Given the description of an element on the screen output the (x, y) to click on. 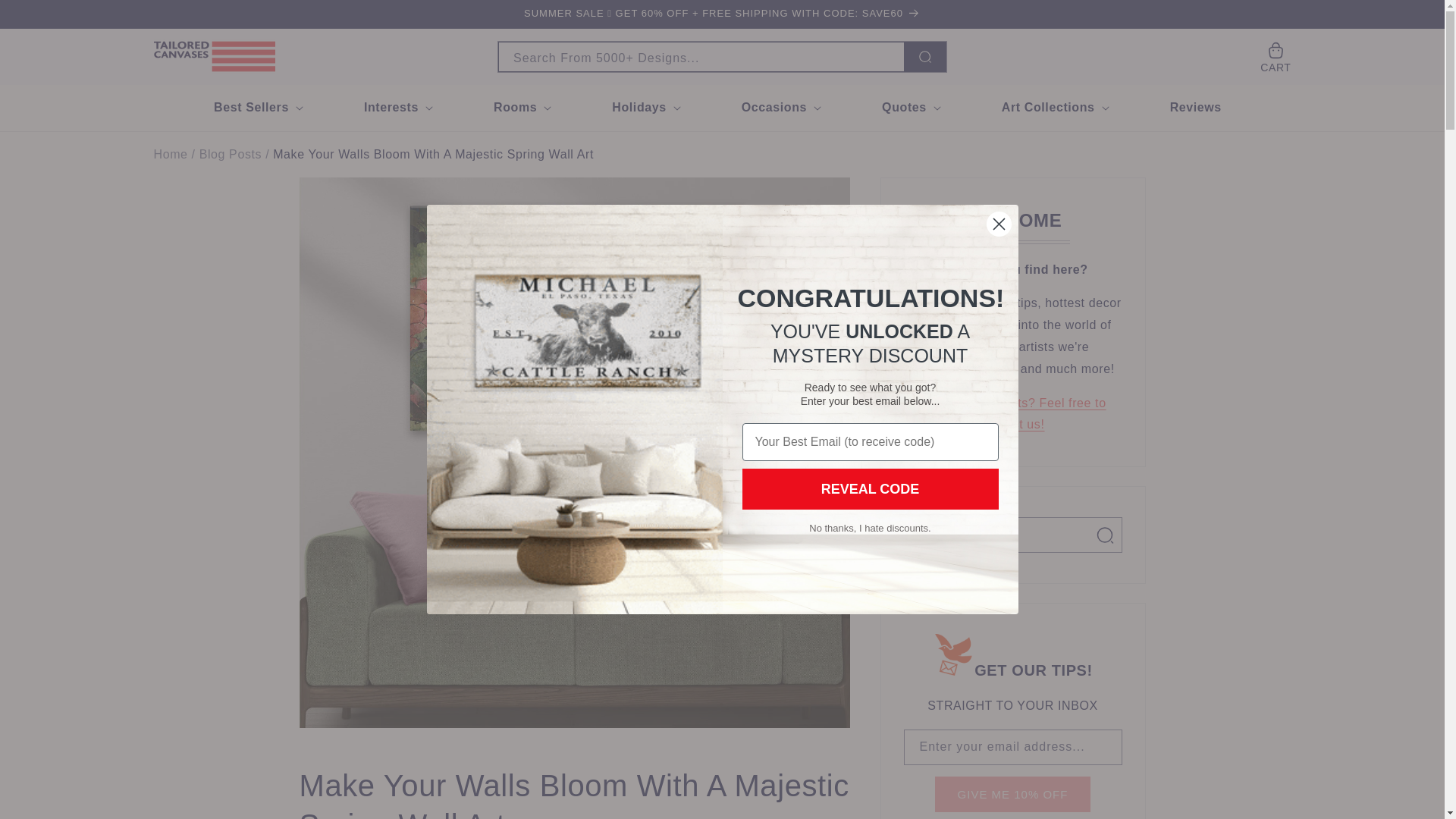
canvas wall art (169, 154)
Close dialog 1 (998, 223)
Skip to content (45, 17)
Contact Us (1011, 413)
